Given the description of an element on the screen output the (x, y) to click on. 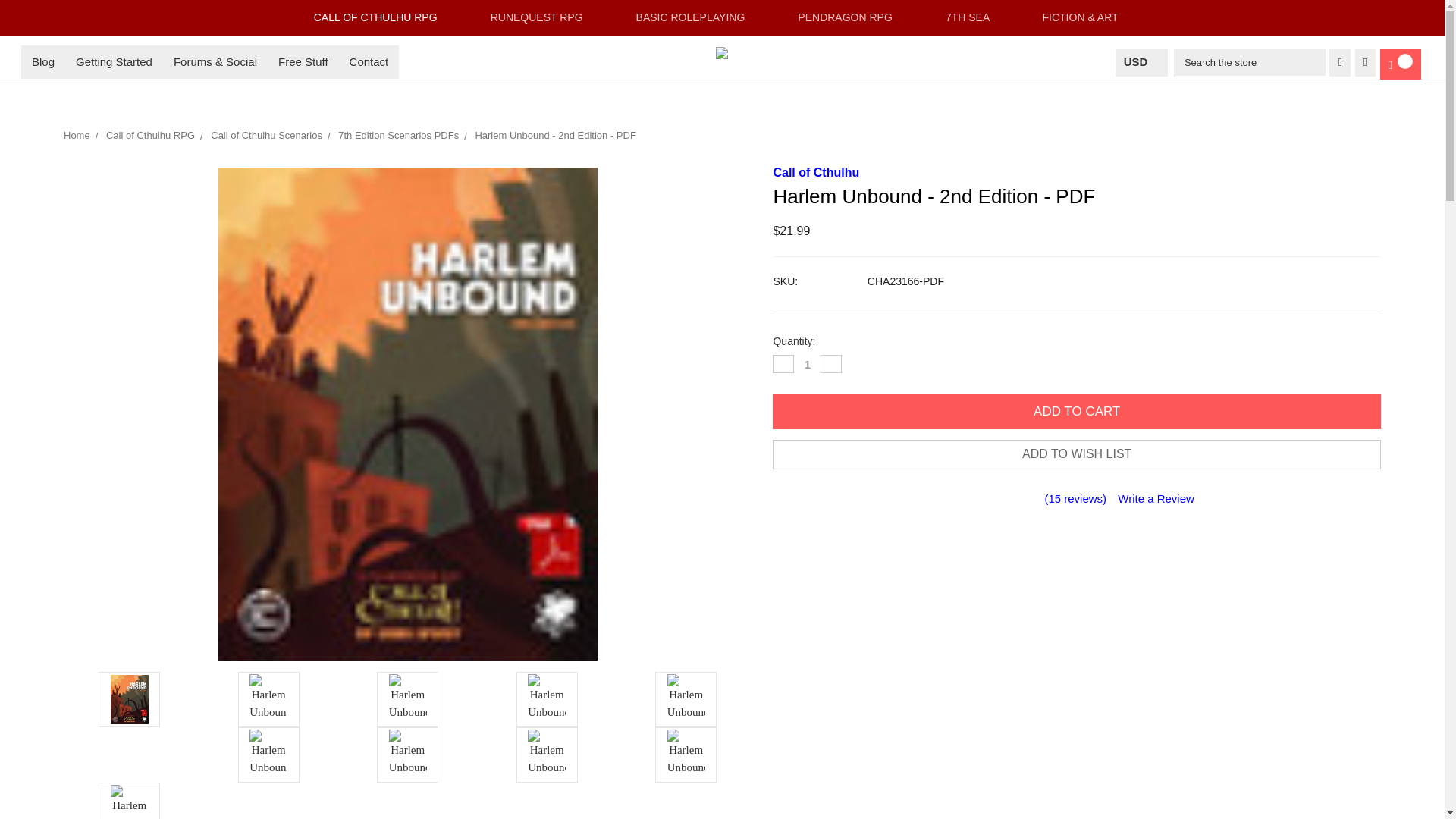
1 (807, 364)
CALL OF CTHULHU RPG (382, 18)
Chaosium Inc. (722, 52)
BASIC ROLEPLAYING (696, 18)
Full Star (981, 499)
Full Star (996, 499)
RUNEQUEST RPG (542, 18)
Harlem Unbound - Glossary (129, 801)
Add to Cart (1076, 411)
Full Star (1026, 499)
Full Star (965, 499)
Full Star (1011, 499)
PENDRAGON RPG (851, 18)
